Given the description of an element on the screen output the (x, y) to click on. 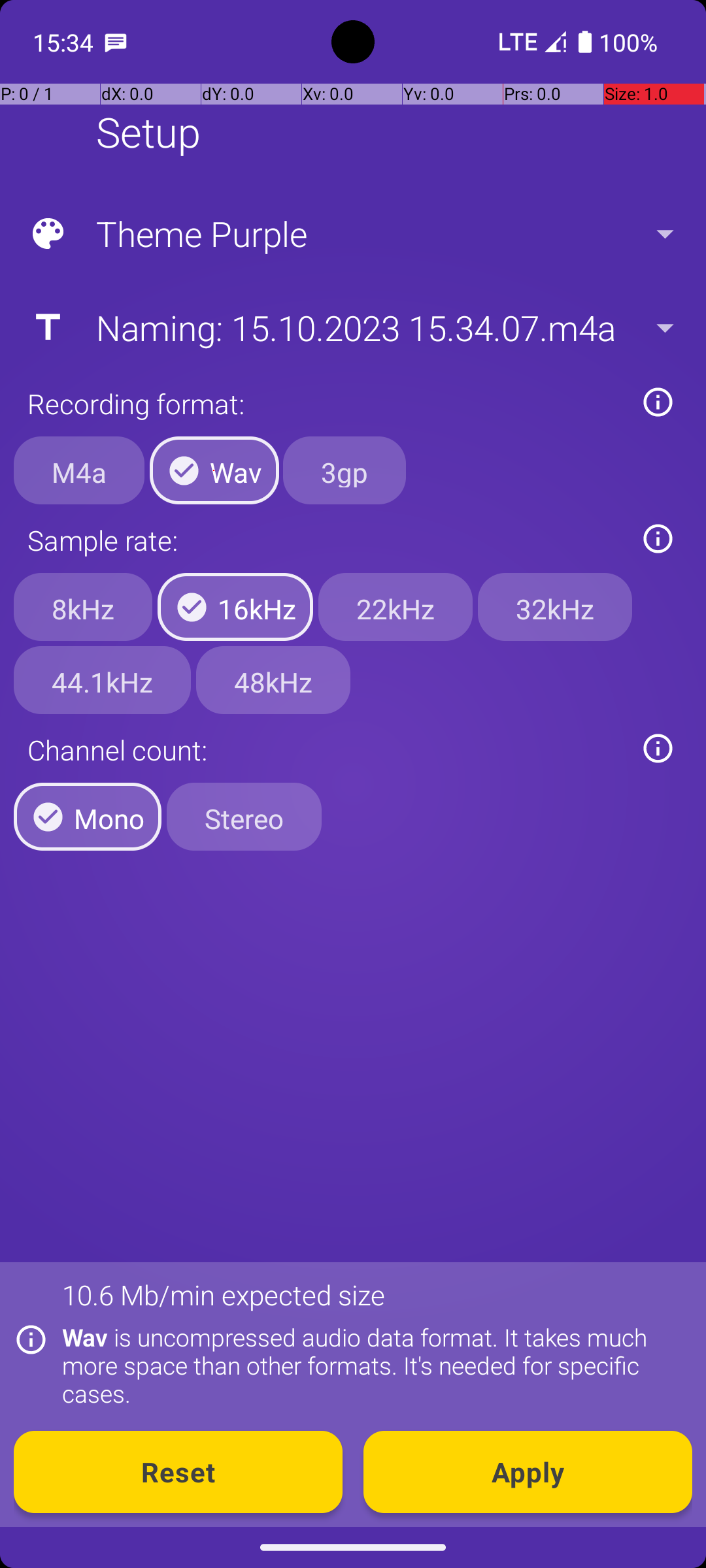
10.6 Mb/min expected size Element type: android.widget.TextView (223, 1294)
Wav is uncompressed audio data format. It takes much more space than other formats. It's needed for specific cases. Element type: android.widget.TextView (370, 1364)
Theme Purple Element type: android.widget.TextView (352, 233)
Naming: 15.10.2023 15.34.07.m4a Element type: android.widget.TextView (352, 327)
